Given the description of an element on the screen output the (x, y) to click on. 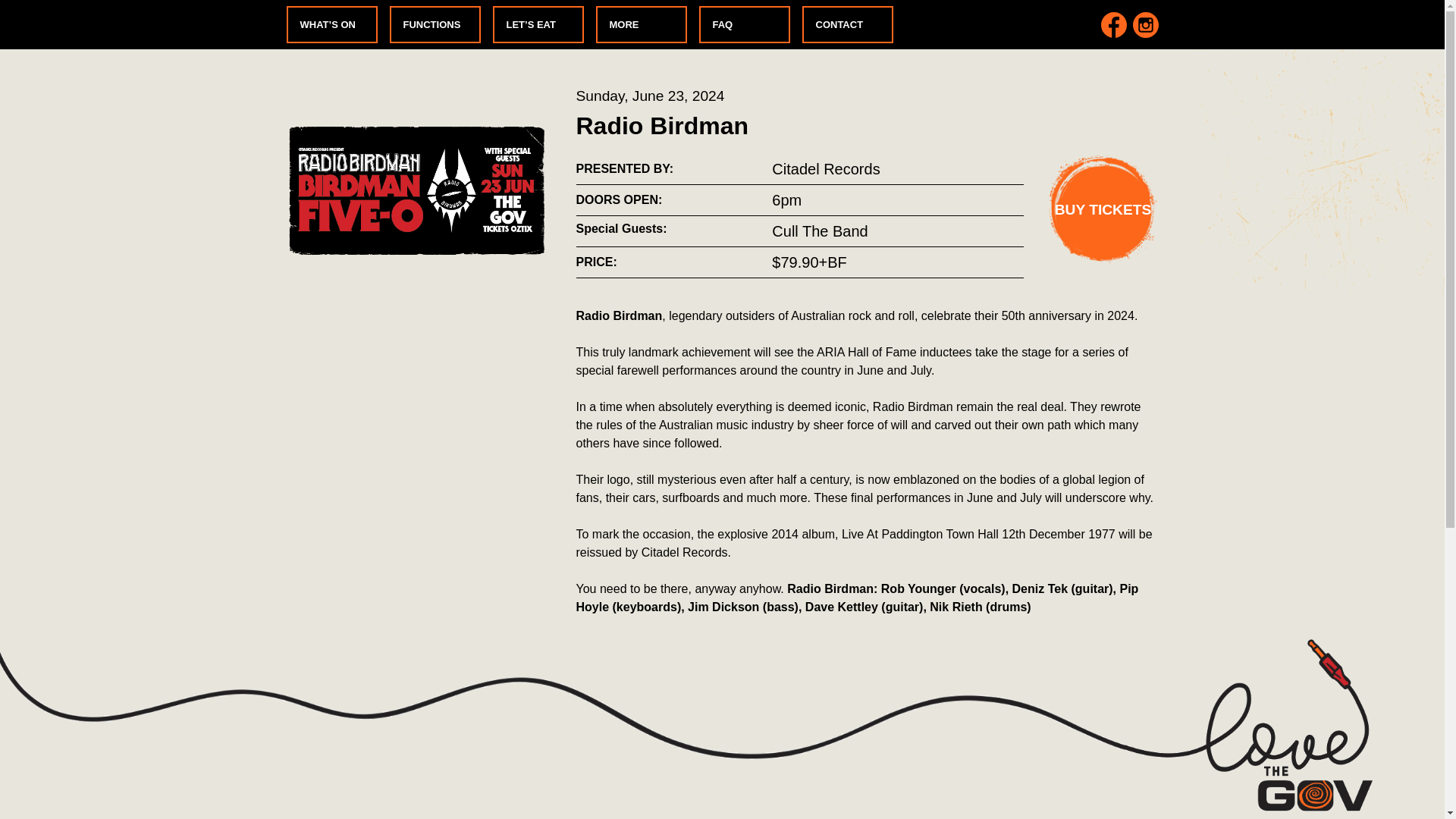
FAQ (744, 24)
CONTACT (847, 24)
FUNCTIONS (435, 24)
BUY TICKETS (1103, 208)
